Given the description of an element on the screen output the (x, y) to click on. 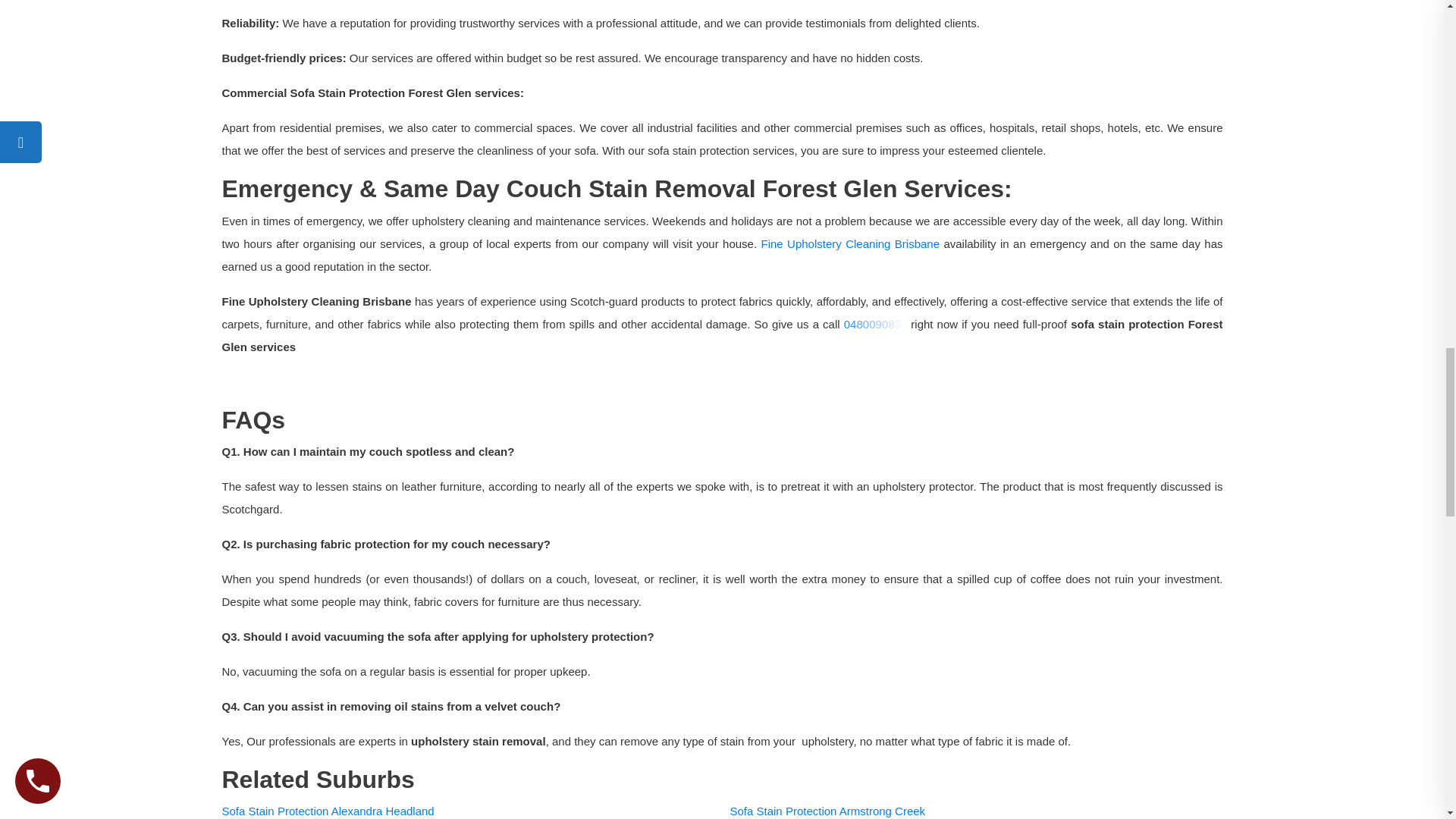
Sofa Stain Protection Armstrong Creek (826, 810)
Sofa Stain Protection Alexandra Headland (327, 810)
048009085 (875, 323)
Sofa Stain Protection Armstrong Creek (826, 810)
Fine Upholstery Cleaning Brisbane (850, 243)
Sofa Stain Protection Alexandra Headland (327, 810)
